Given the description of an element on the screen output the (x, y) to click on. 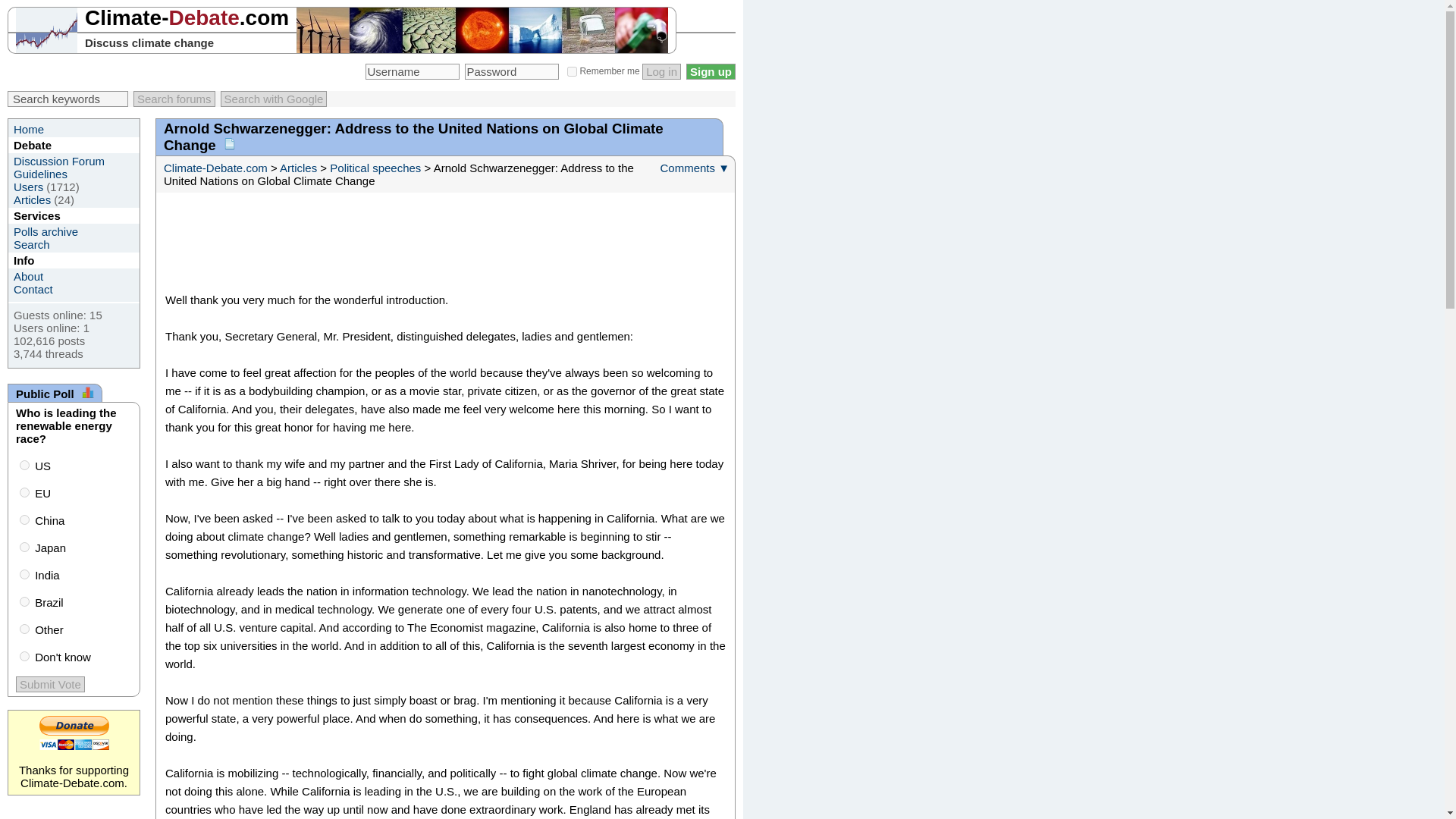
Home (28, 128)
4 (24, 574)
Search forums (174, 98)
Search keywords (67, 98)
Articles (31, 199)
2 (24, 519)
1 (24, 492)
Contact (32, 288)
Submit Vote (50, 684)
Log in (661, 71)
Password (511, 71)
Search (31, 244)
6 (24, 628)
Climate-Debate.com (215, 167)
Articles (298, 167)
